Given the description of an element on the screen output the (x, y) to click on. 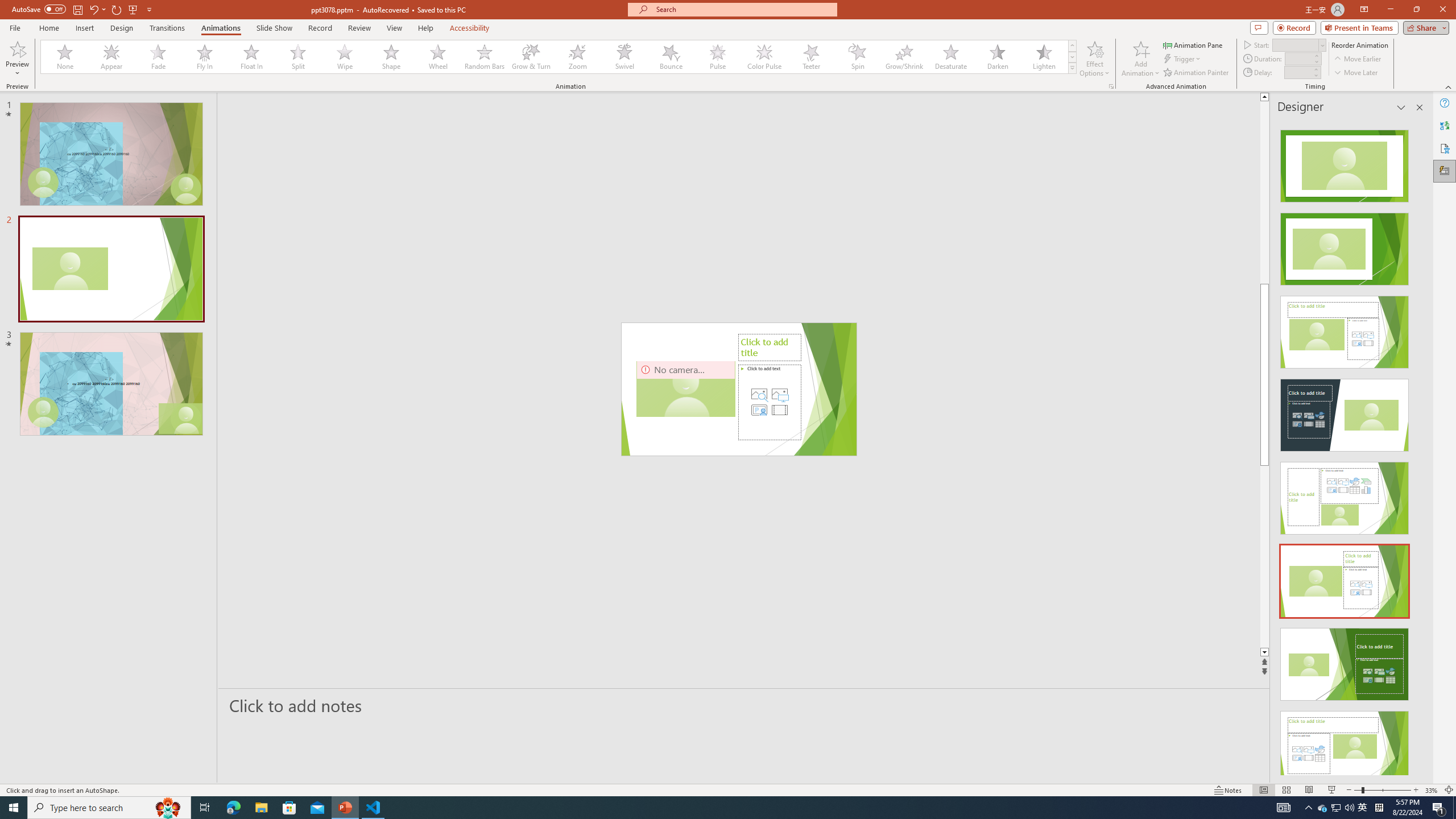
Preview (17, 48)
Random Bars (484, 56)
Insert Cameo (758, 409)
Float In (251, 56)
Minimize (1390, 9)
More Options... (1110, 85)
Start (1299, 44)
Class: NetUIImage (1072, 68)
Reading View (1308, 790)
Lighten (1043, 56)
Darken (997, 56)
Close (1442, 9)
Stock Images (758, 394)
